Given the description of an element on the screen output the (x, y) to click on. 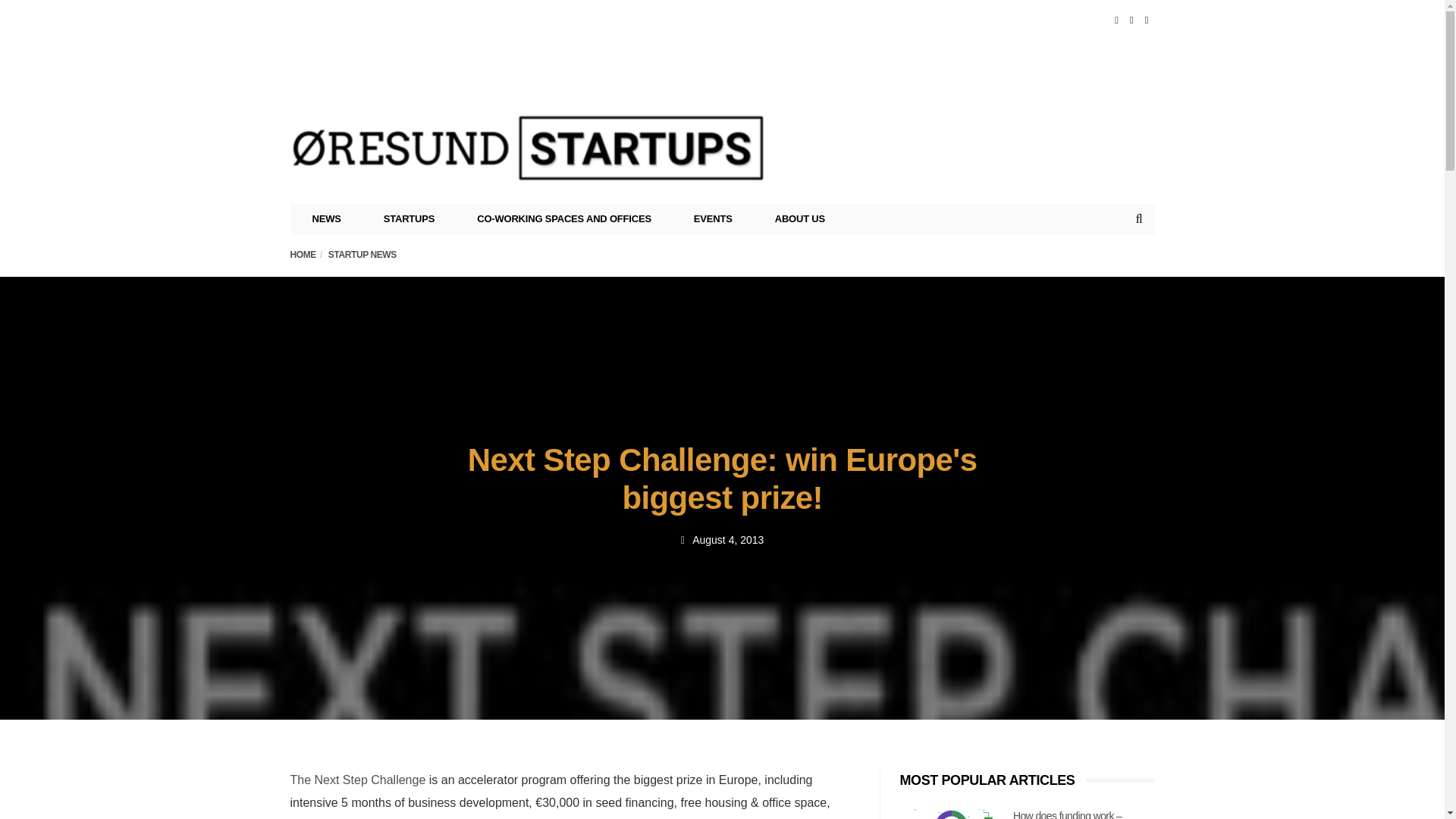
NEWS (326, 218)
EVENTS (713, 218)
STARTUP NEWS (362, 254)
STARTUPS (409, 218)
ABOUT US (799, 218)
HOME (302, 254)
CO-WORKING SPACES AND OFFICES (563, 218)
The Next Step Challenge (357, 779)
Advertisement (878, 74)
